Given the description of an element on the screen output the (x, y) to click on. 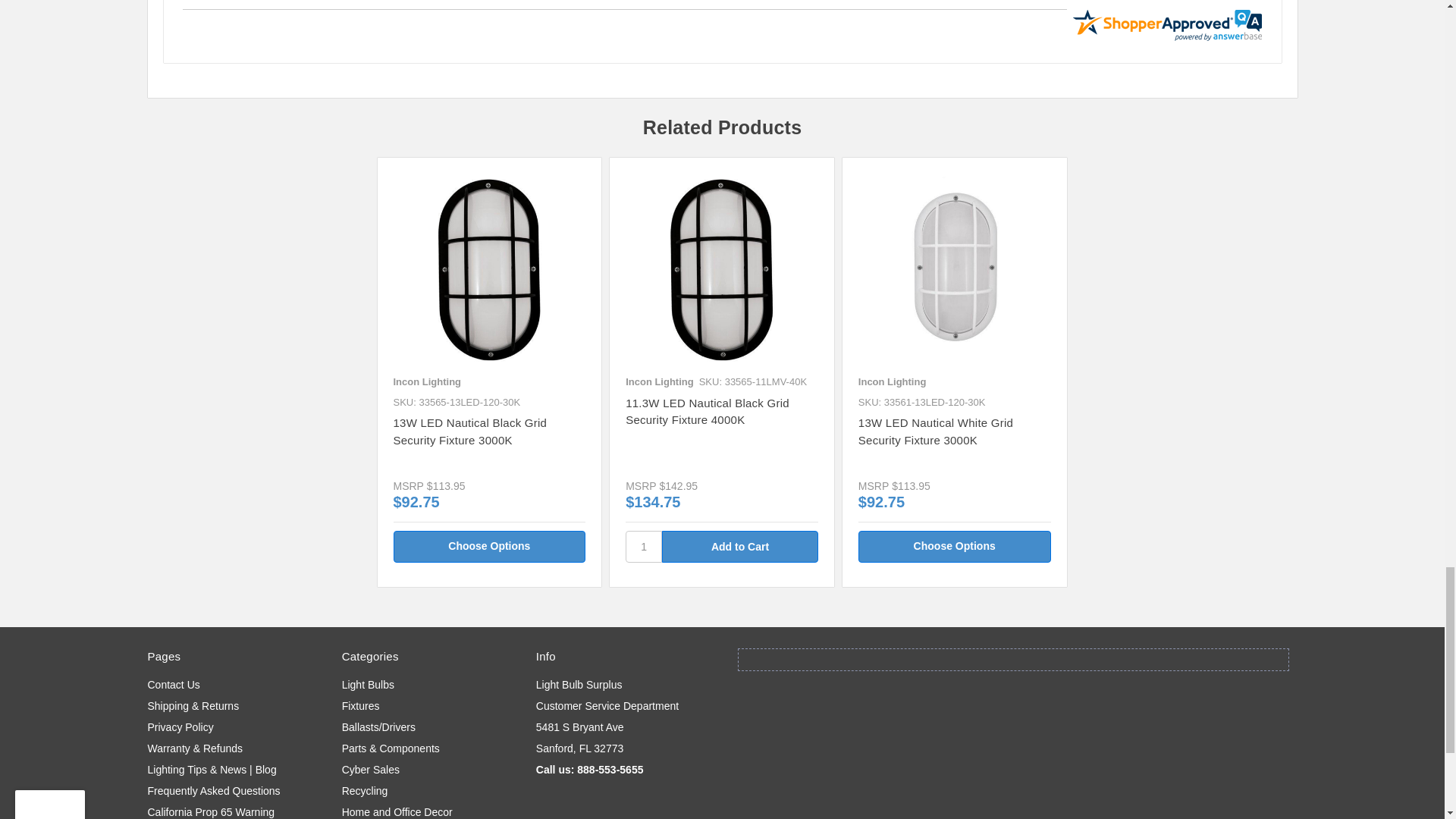
1 (644, 546)
Add to Cart (740, 546)
